Given the description of an element on the screen output the (x, y) to click on. 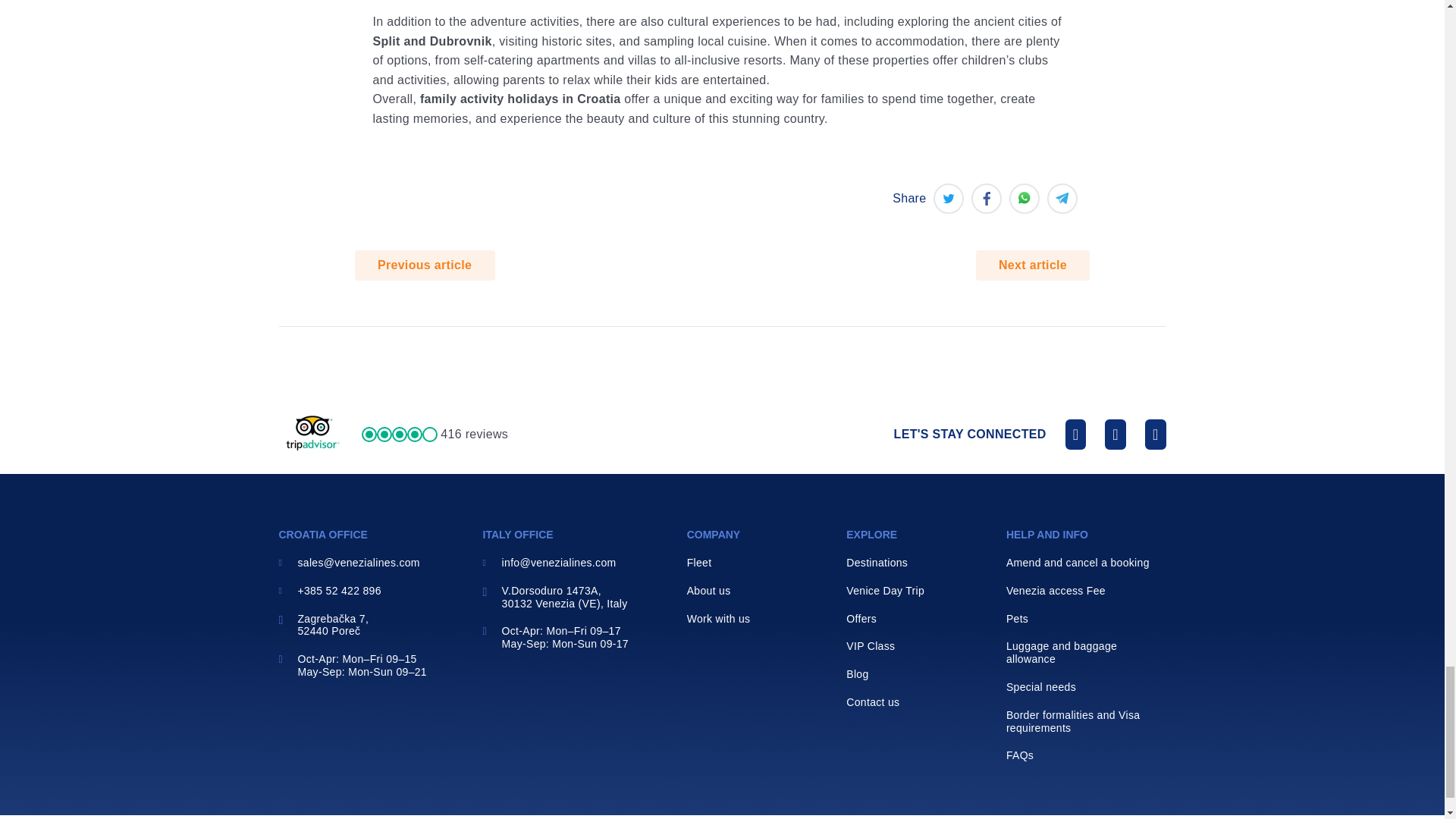
Next article (1032, 265)
CROATIA OFFICE (323, 534)
Previous article (425, 265)
